Given the description of an element on the screen output the (x, y) to click on. 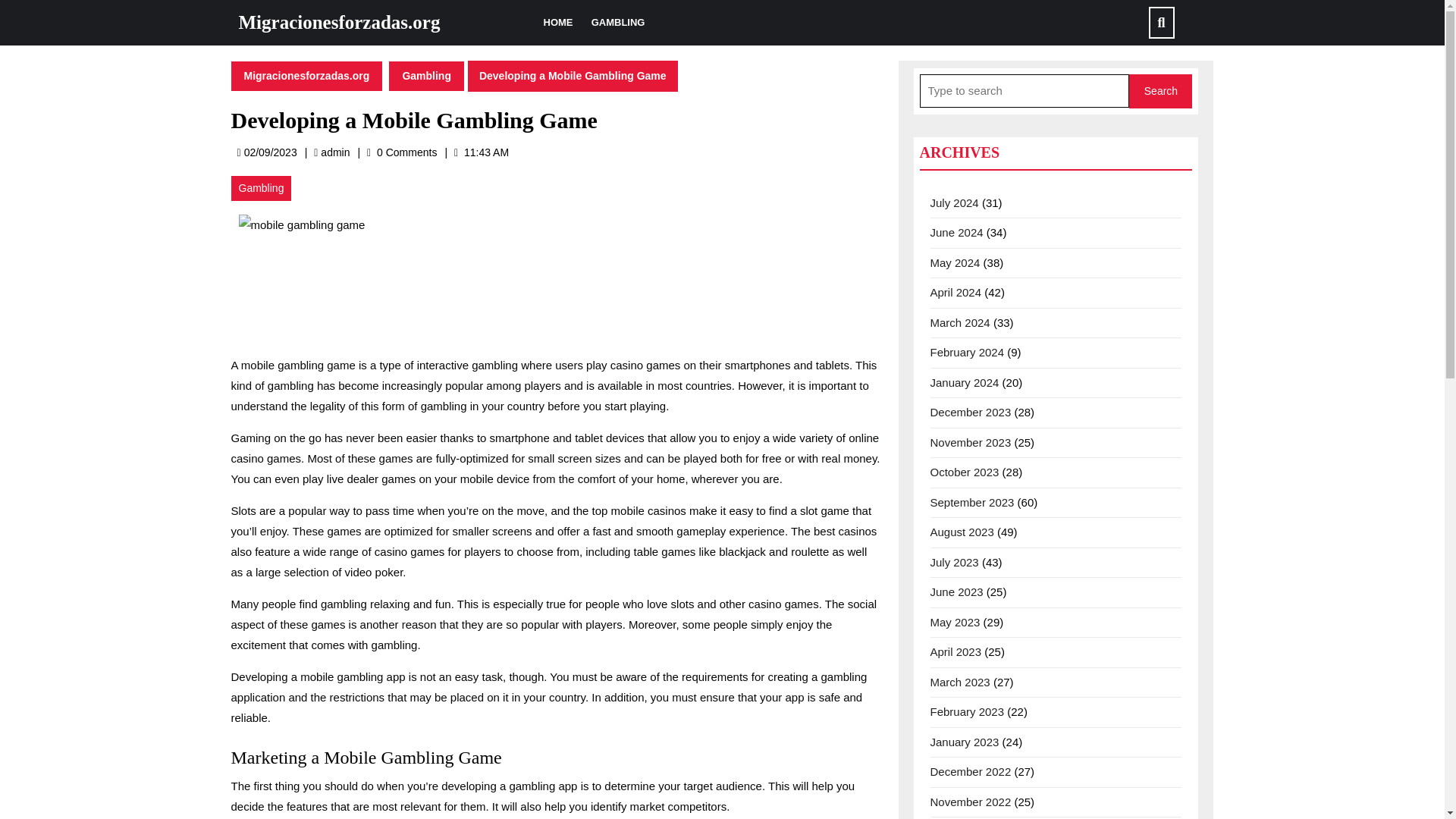
January 2024 (964, 382)
Search (1160, 91)
May 2024 (954, 262)
Migracionesforzadas.org (305, 75)
May 2023 (954, 621)
March 2024 (960, 321)
February 2023 (967, 711)
Gambling (260, 188)
March 2023 (960, 680)
June 2024 (956, 232)
Migracionesforzadas.org (338, 22)
Gambling (426, 75)
April 2024 (955, 291)
February 2024 (967, 351)
December 2023 (970, 411)
